Given the description of an element on the screen output the (x, y) to click on. 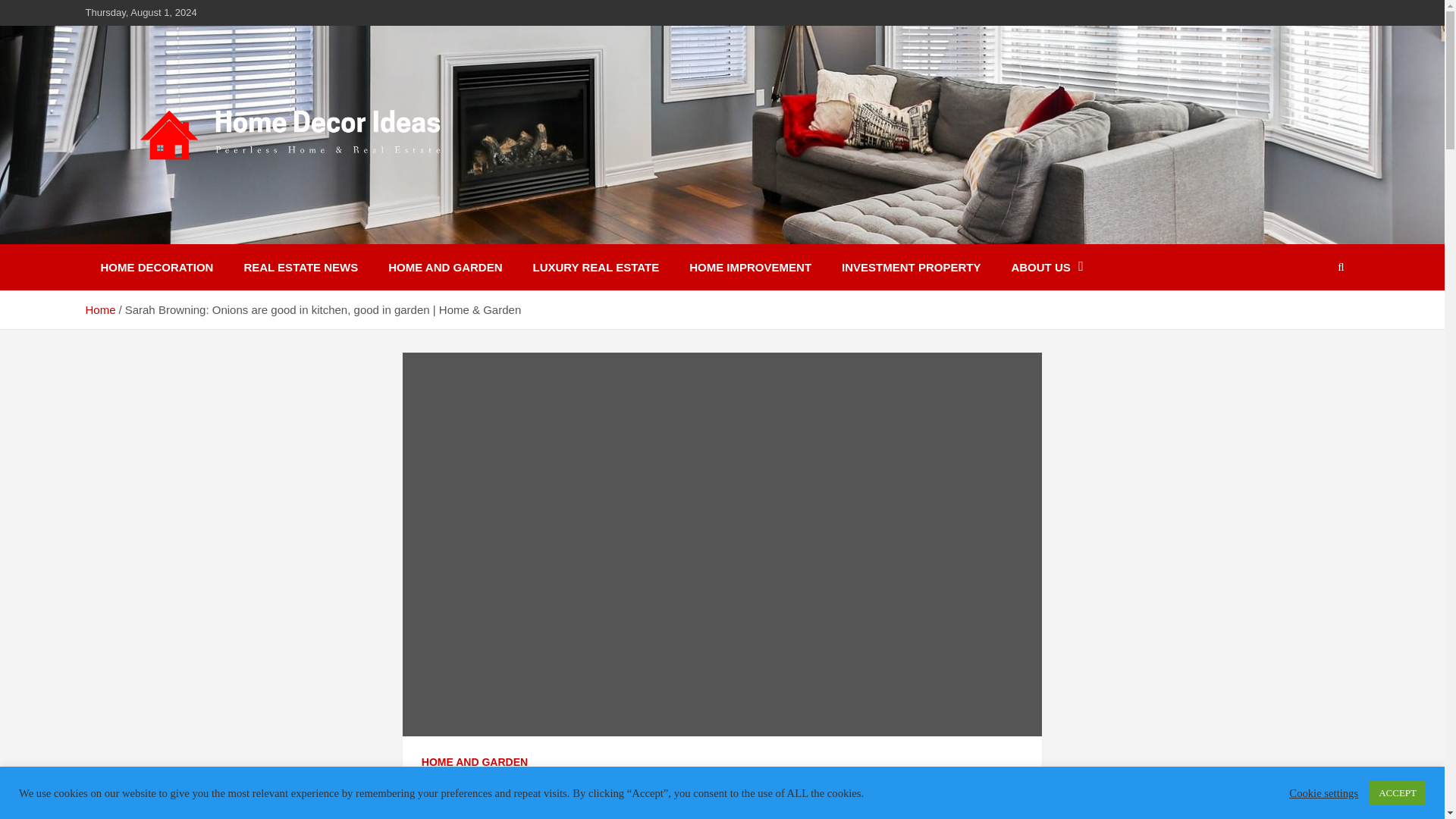
LUXURY REAL ESTATE (596, 267)
HOME AND GARDEN (444, 267)
REAL ESTATE NEWS (300, 267)
HOME IMPROVEMENT (750, 267)
ABOUT US (1046, 267)
Home Decor Ideas (216, 233)
HOME DECORATION (156, 267)
HOME AND GARDEN (474, 762)
Home (99, 309)
INVESTMENT PROPERTY (911, 267)
